Given the description of an element on the screen output the (x, y) to click on. 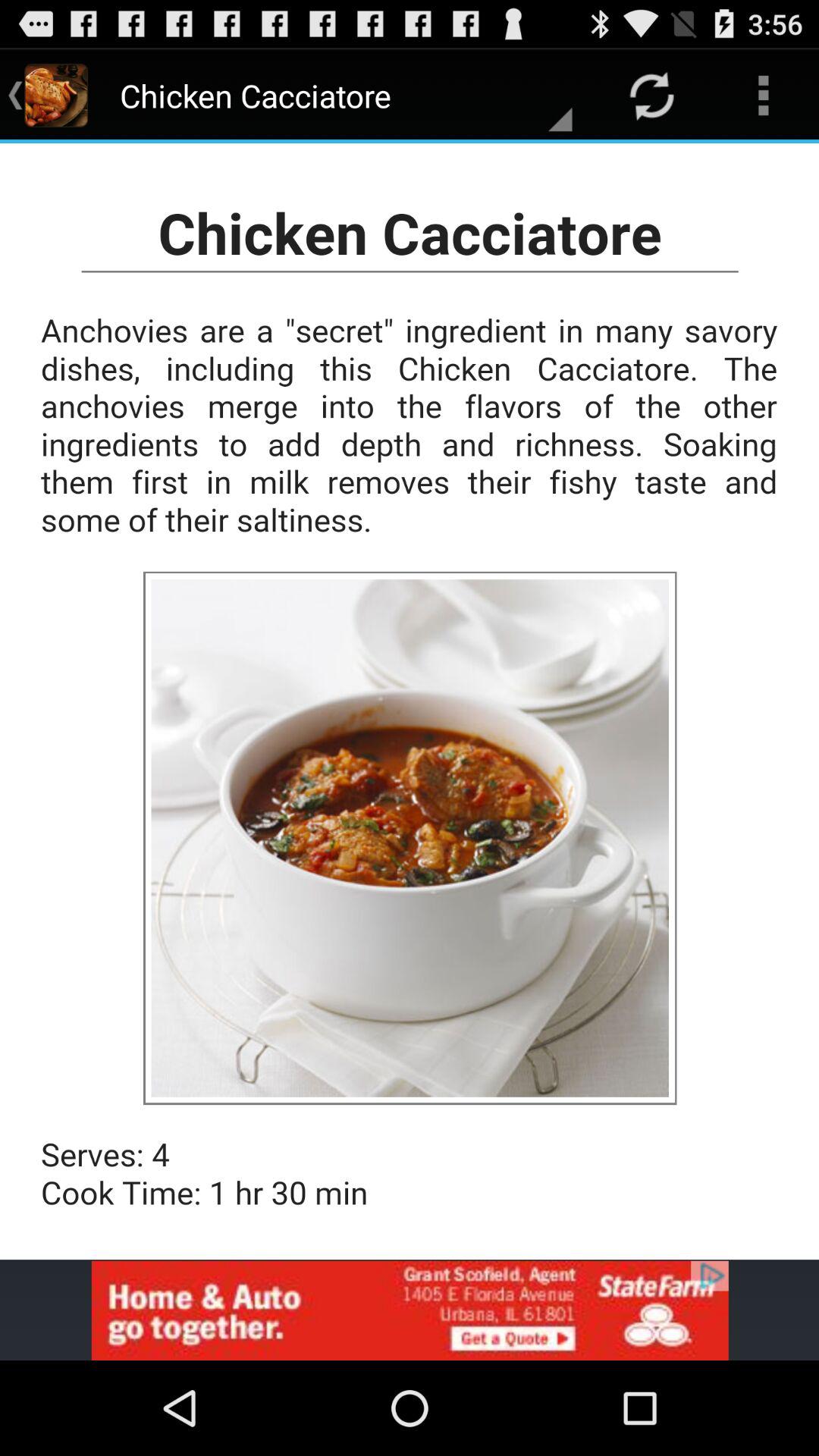
details about advertisement (409, 1310)
